Given the description of an element on the screen output the (x, y) to click on. 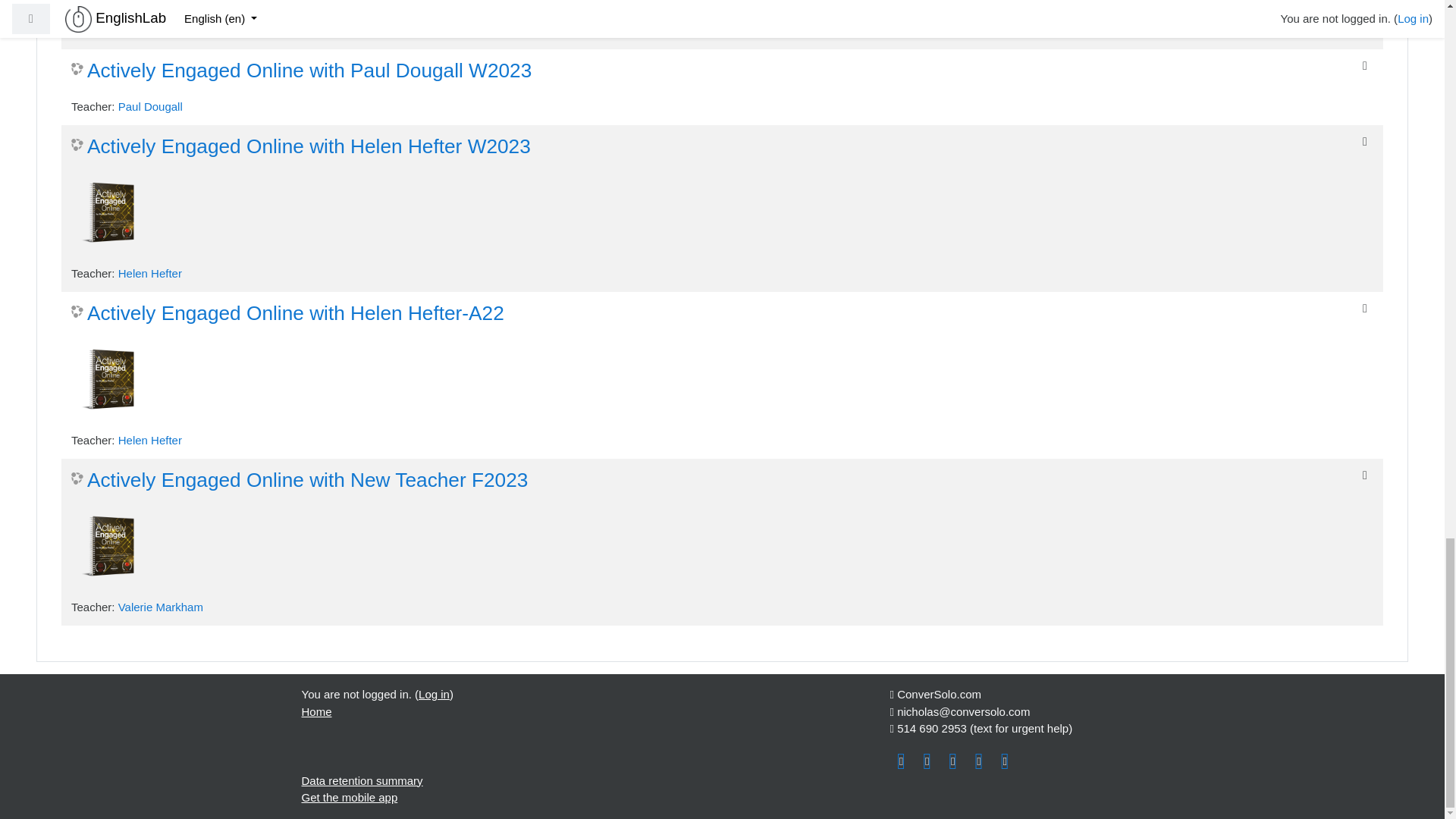
Helen Hefter (149, 273)
Internal enrolment (1364, 65)
Internal enrolment (1364, 141)
Actively Engaged Online with Helen Hefter-A22 (287, 313)
Internal enrolment (1364, 475)
Actively Engaged Online with Helen Hefter W2023 (301, 146)
Paul Dougall (150, 106)
Valerie Markham (160, 30)
Helen Hefter (149, 440)
Valerie Markham (160, 606)
